Given the description of an element on the screen output the (x, y) to click on. 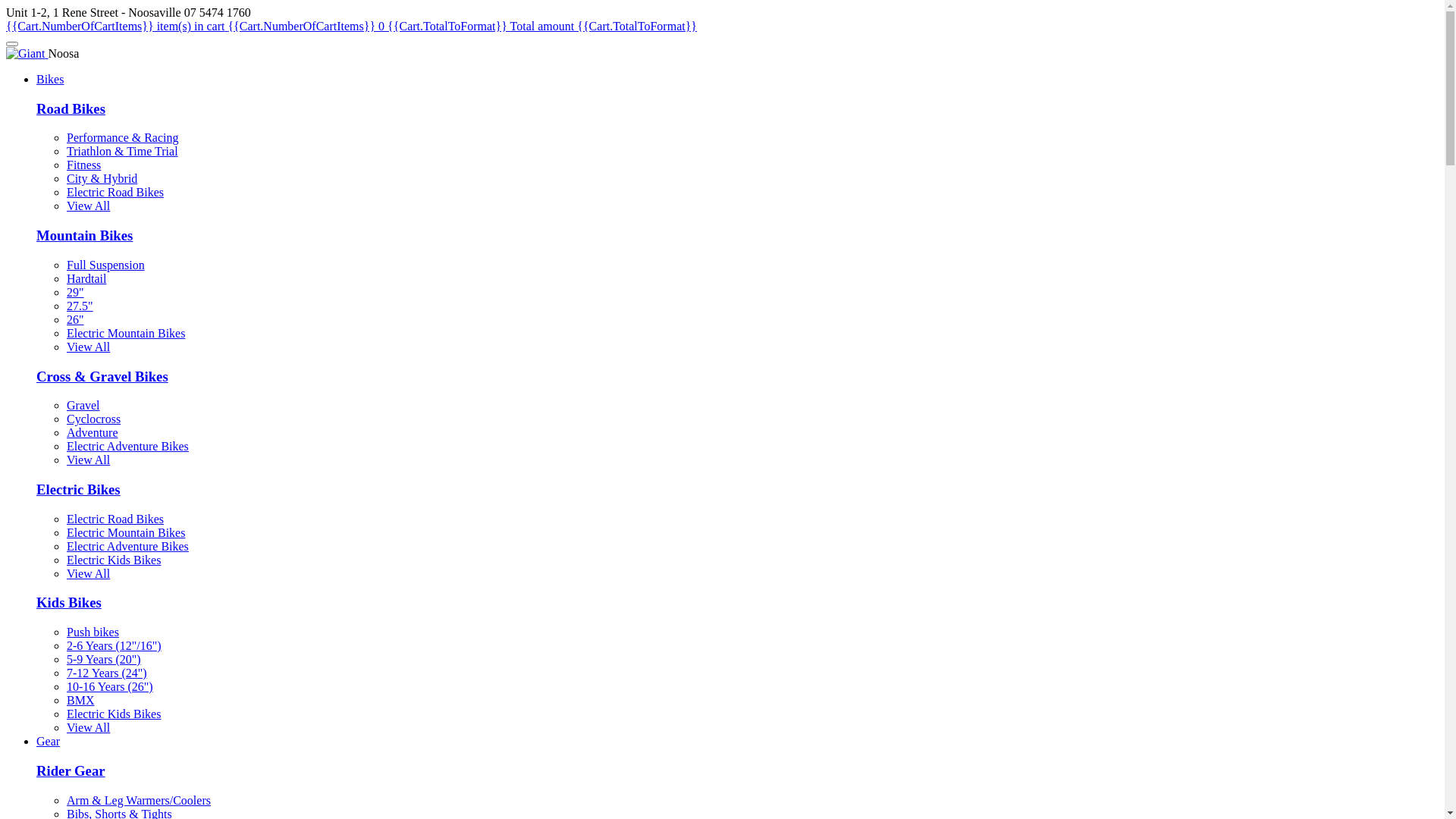
Performance & Racing Element type: text (122, 137)
View All Element type: text (87, 459)
Push bikes Element type: text (92, 631)
Electric Kids Bikes Element type: text (113, 713)
Gear Element type: text (47, 740)
Electric Kids Bikes Element type: text (113, 559)
City & Hybrid Element type: text (101, 178)
Fitness Element type: text (83, 164)
Road Bikes Element type: text (70, 108)
5-9 Years (20") Element type: text (103, 658)
Rider Gear Element type: text (70, 770)
Electric Adventure Bikes Element type: text (127, 445)
Adventure Element type: text (92, 432)
Arm & Leg Warmers/Coolers Element type: text (138, 799)
26" Element type: text (75, 319)
Cross & Gravel Bikes Element type: text (102, 376)
Triathlon & Time Trial Element type: text (122, 150)
10-16 Years (26") Element type: text (109, 686)
Electric Road Bikes Element type: text (114, 191)
Cyclocross Element type: text (93, 418)
Electric Adventure Bikes Element type: text (127, 545)
Electric Mountain Bikes Element type: text (125, 532)
View All Element type: text (87, 573)
Bikes Element type: text (49, 78)
Kids Bikes Element type: text (68, 602)
Gravel Element type: text (83, 404)
2-6 Years (12"/16") Element type: text (113, 645)
Electric Bikes Element type: text (78, 489)
Full Suspension Element type: text (105, 264)
7-12 Years (24") Element type: text (106, 672)
Electric Mountain Bikes Element type: text (125, 332)
View All Element type: text (87, 205)
View All Element type: text (87, 727)
Hardtail Element type: text (86, 278)
27.5" Element type: text (79, 305)
29" Element type: text (75, 291)
Mountain Bikes Element type: text (84, 235)
Electric Road Bikes Element type: text (114, 518)
BMX Element type: text (80, 699)
View All Element type: text (87, 346)
